Given the description of an element on the screen output the (x, y) to click on. 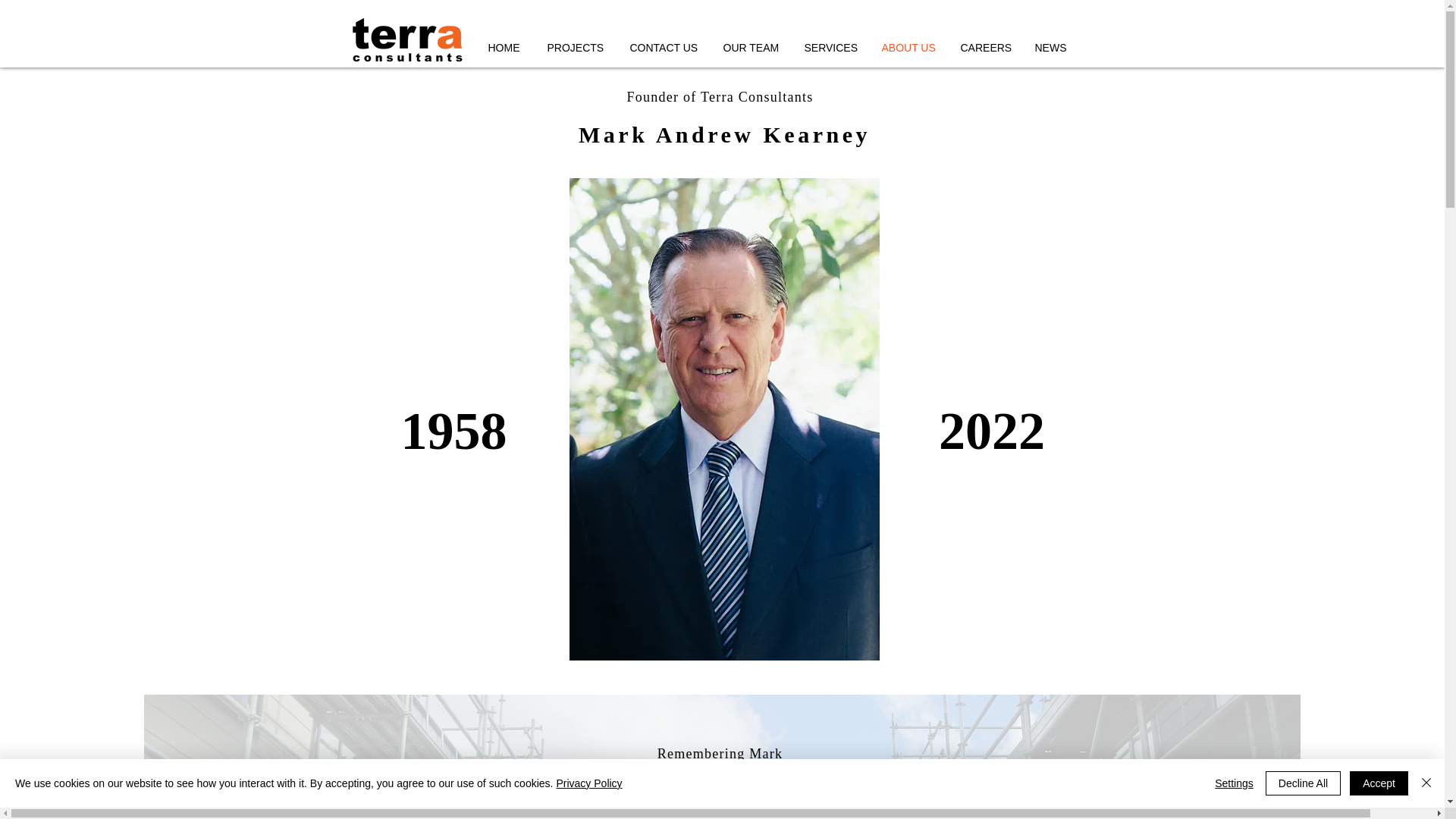
HOME (505, 47)
SERVICES (831, 47)
CONTACT US (664, 47)
OUR TEAM (751, 47)
ABOUT US (909, 47)
NEWS (1052, 47)
PROJECTS (576, 47)
CAREERS (986, 47)
